Given the description of an element on the screen output the (x, y) to click on. 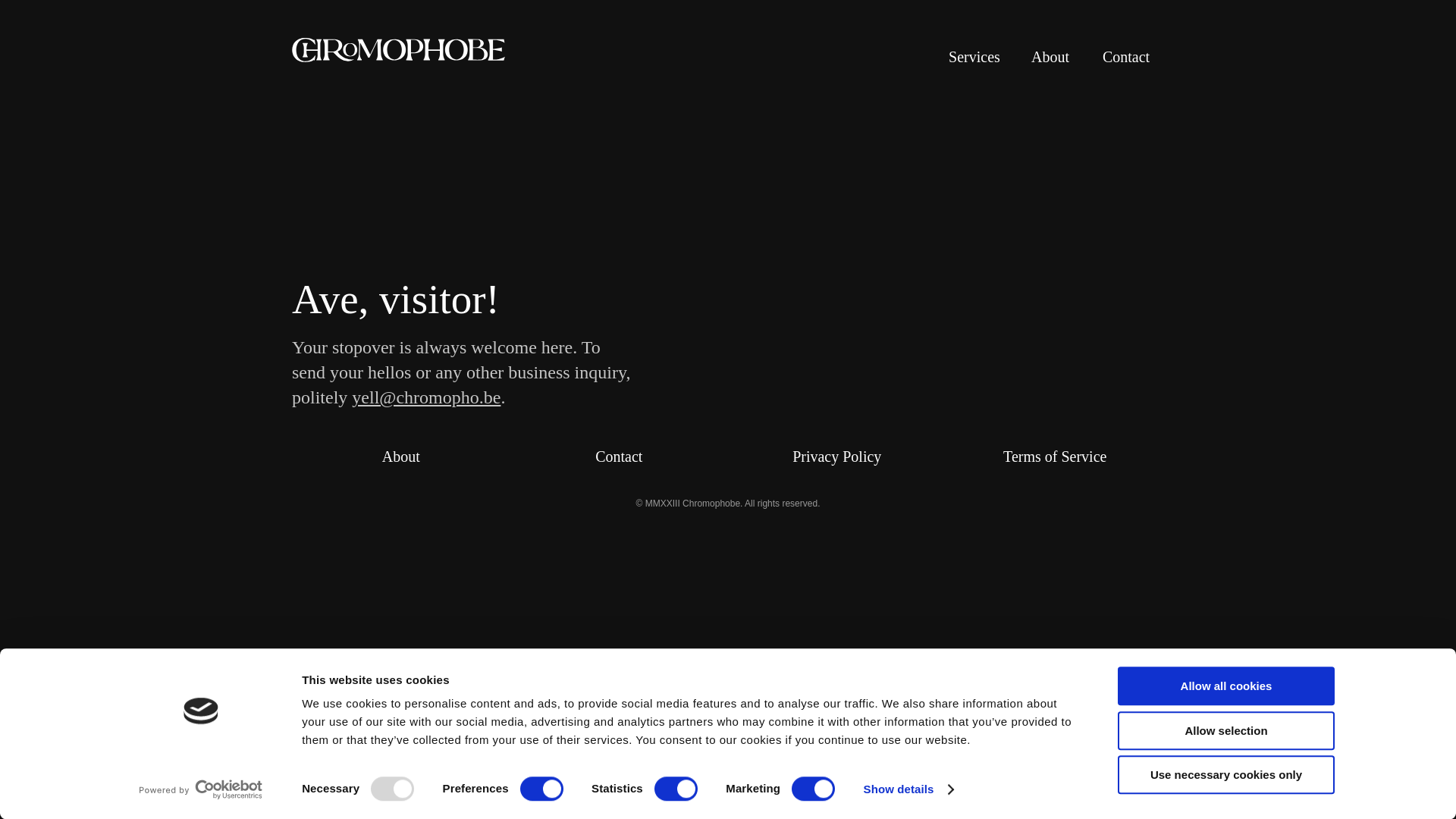
About Element type: text (1050, 56)
Allow all cookies Element type: text (1225, 685)
Contact Element type: text (618, 456)
Contact Element type: text (1125, 56)
Terms of Service Element type: text (1054, 456)
yell@chromopho.be Element type: text (425, 397)
Privacy Policy Element type: text (836, 456)
Show details Element type: text (908, 789)
About Element type: text (401, 456)
Allow selection Element type: text (1225, 730)
Services Element type: text (974, 56)
Use necessary cookies only Element type: text (1225, 774)
